Given the description of an element on the screen output the (x, y) to click on. 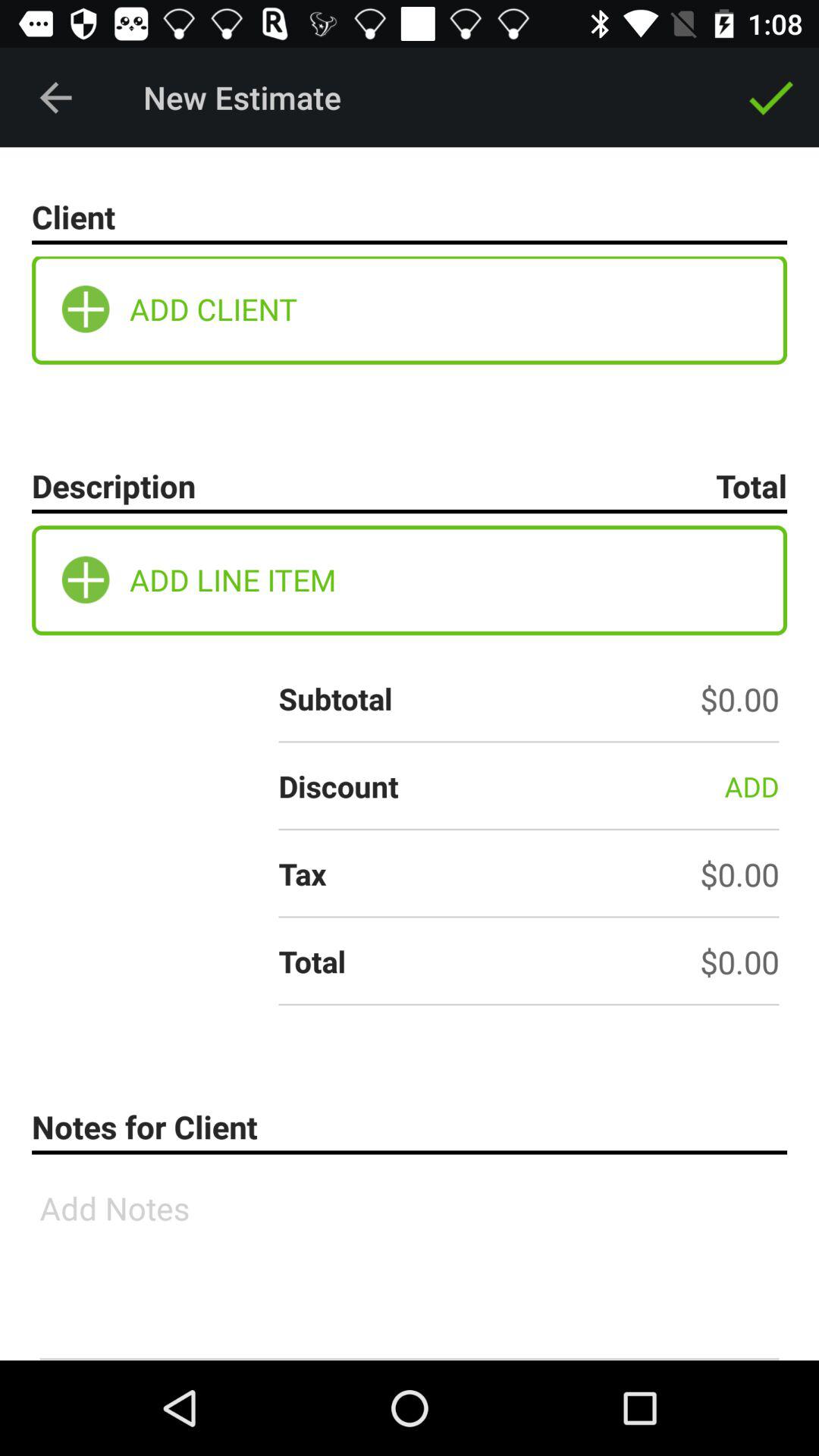
add notes for client (409, 1263)
